Given the description of an element on the screen output the (x, y) to click on. 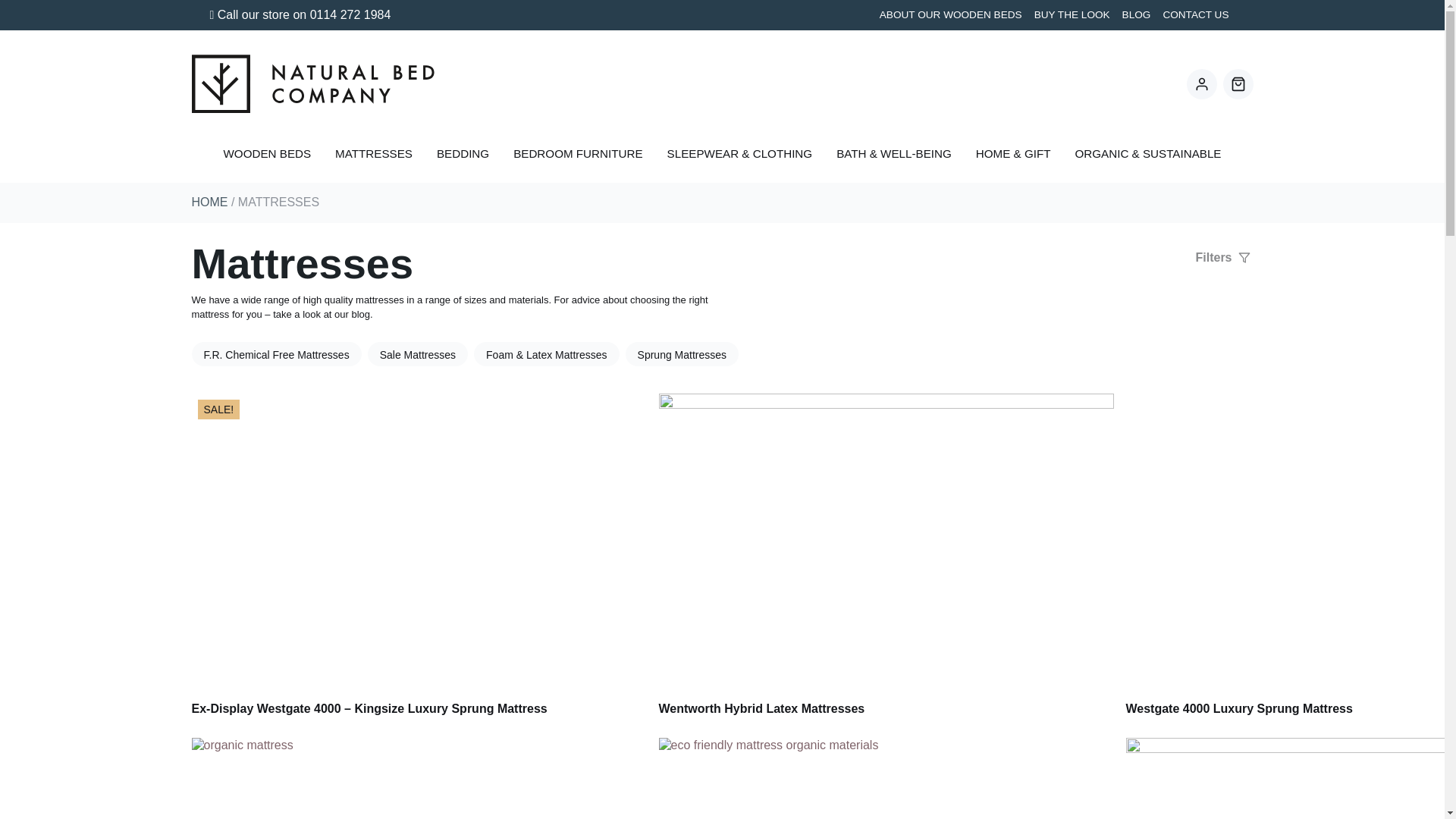
BLOG (1136, 14)
0114 272 1984 (350, 14)
BUY THE LOOK (1071, 14)
ABOUT OUR WOODEN BEDS (950, 14)
My Account (1200, 83)
Filter Products (1225, 257)
View your shopping cart (1237, 83)
CONTACT US (1195, 14)
